Given the description of an element on the screen output the (x, y) to click on. 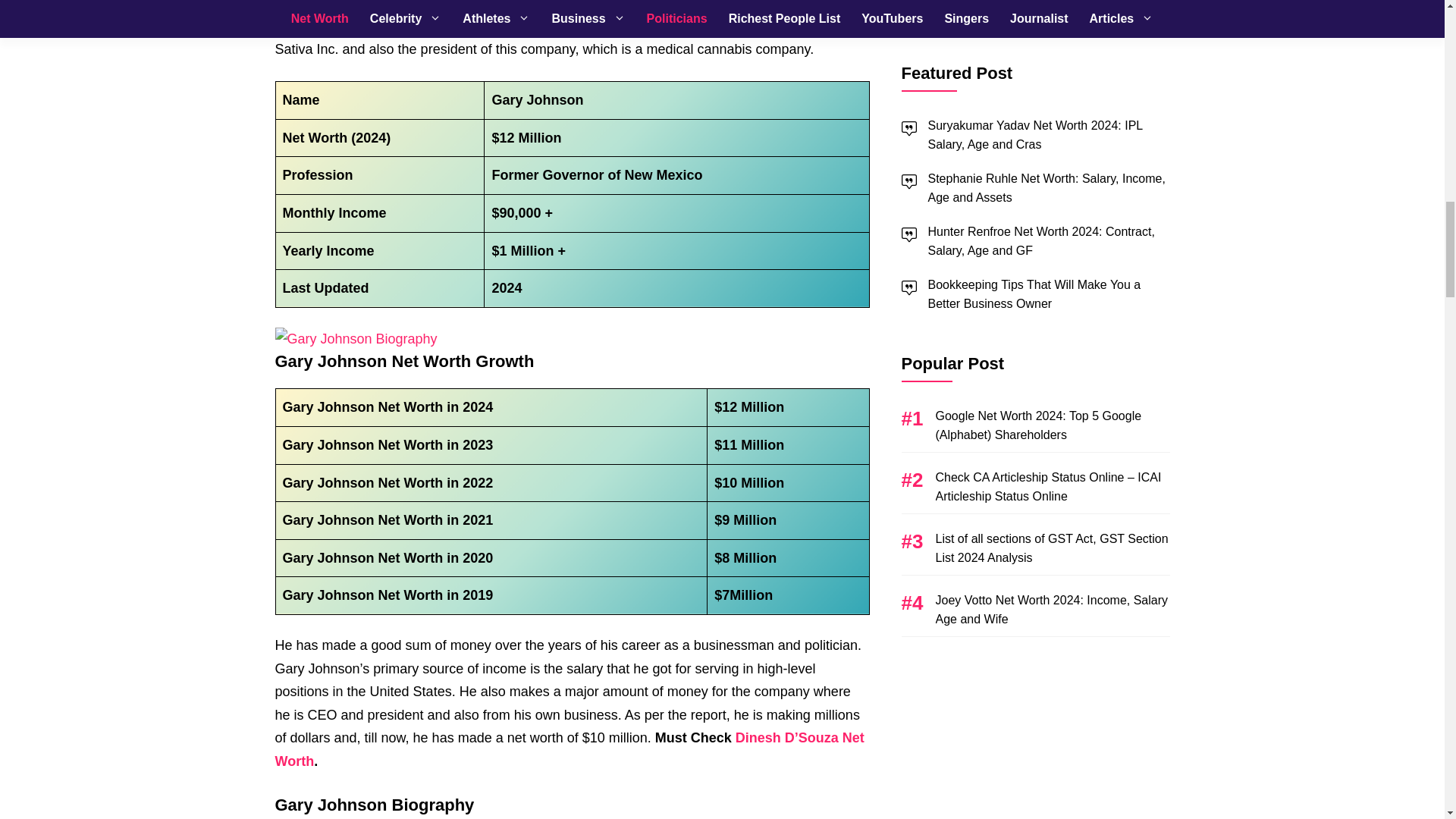
Gary Johnson Biography 1024x597 (355, 339)
